Given the description of an element on the screen output the (x, y) to click on. 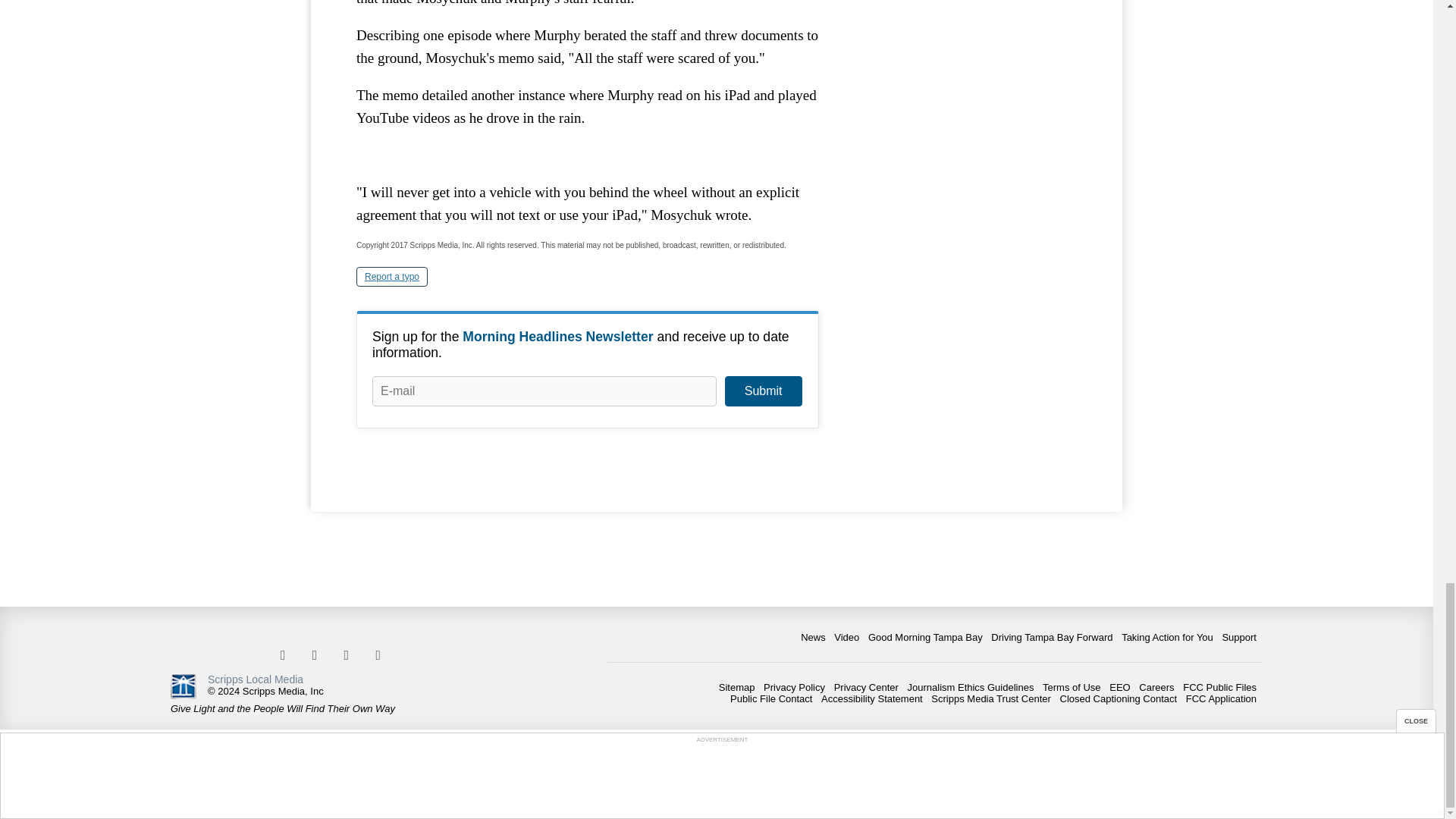
Submit (763, 390)
